Given the description of an element on the screen output the (x, y) to click on. 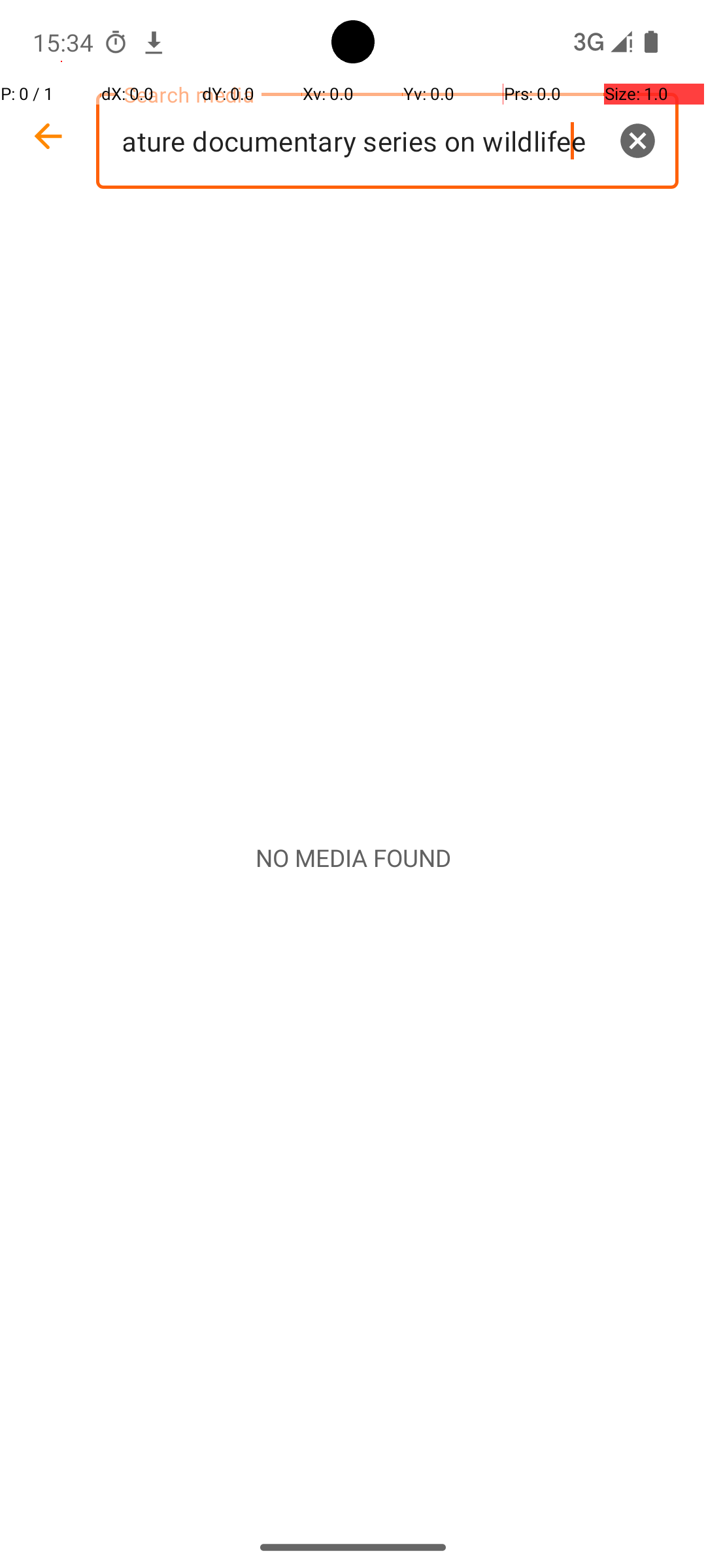
documentary filmsnaturnature documentary series on wildlifee documentaries Element type: android.widget.EditText (387, 140)
Clear text Element type: android.widget.ImageButton (637, 140)
NO MEDIA FOUND Element type: android.widget.TextView (353, 857)
